Given the description of an element on the screen output the (x, y) to click on. 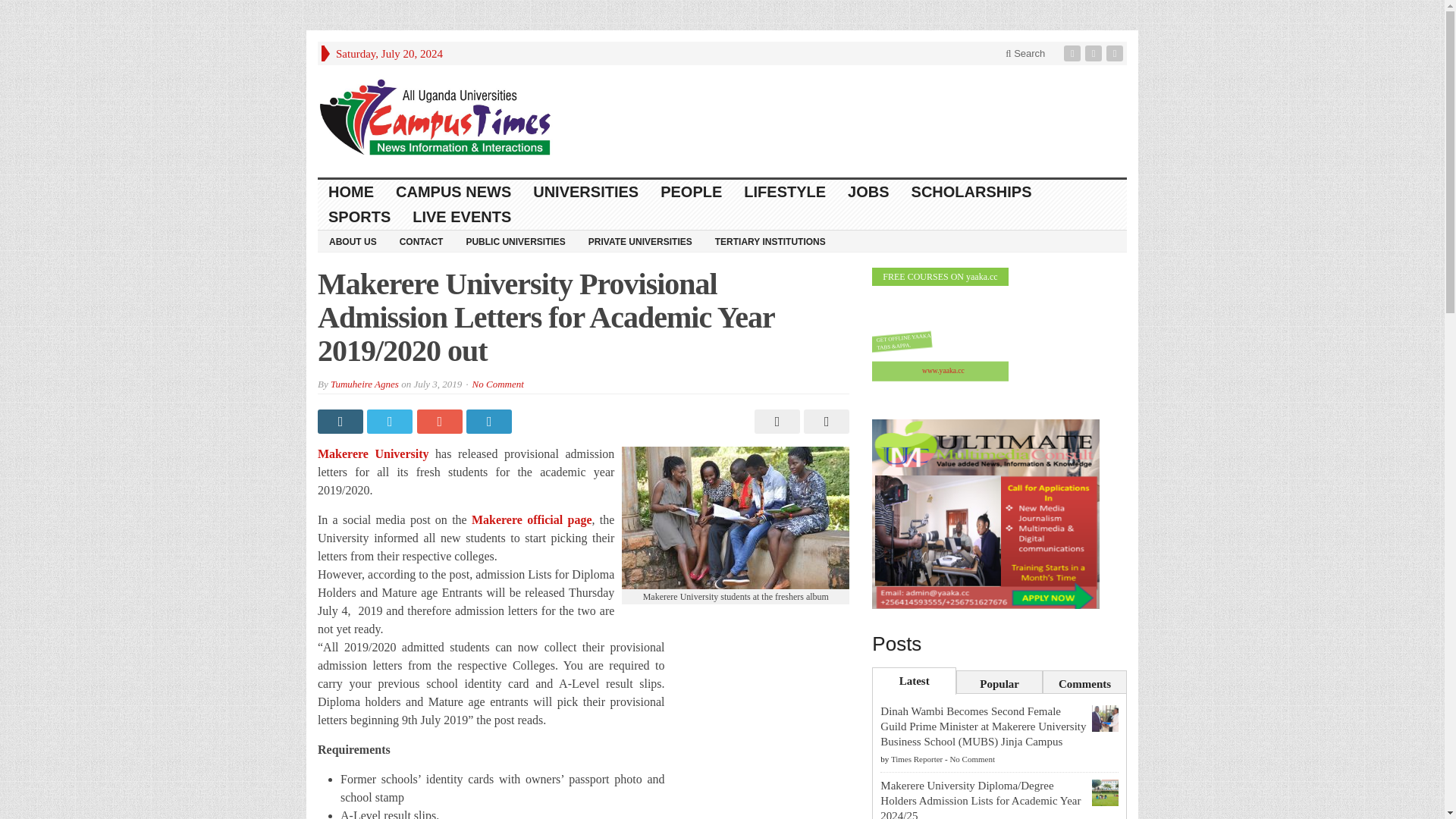
Search (1024, 53)
Facebook (1073, 53)
UNIVERSITIES (585, 191)
CAMPUS NEWS (453, 191)
Twitter (1094, 53)
LIFESTYLE (785, 191)
HOME (351, 191)
PEOPLE (691, 191)
Site feed (1115, 53)
